Given the description of an element on the screen output the (x, y) to click on. 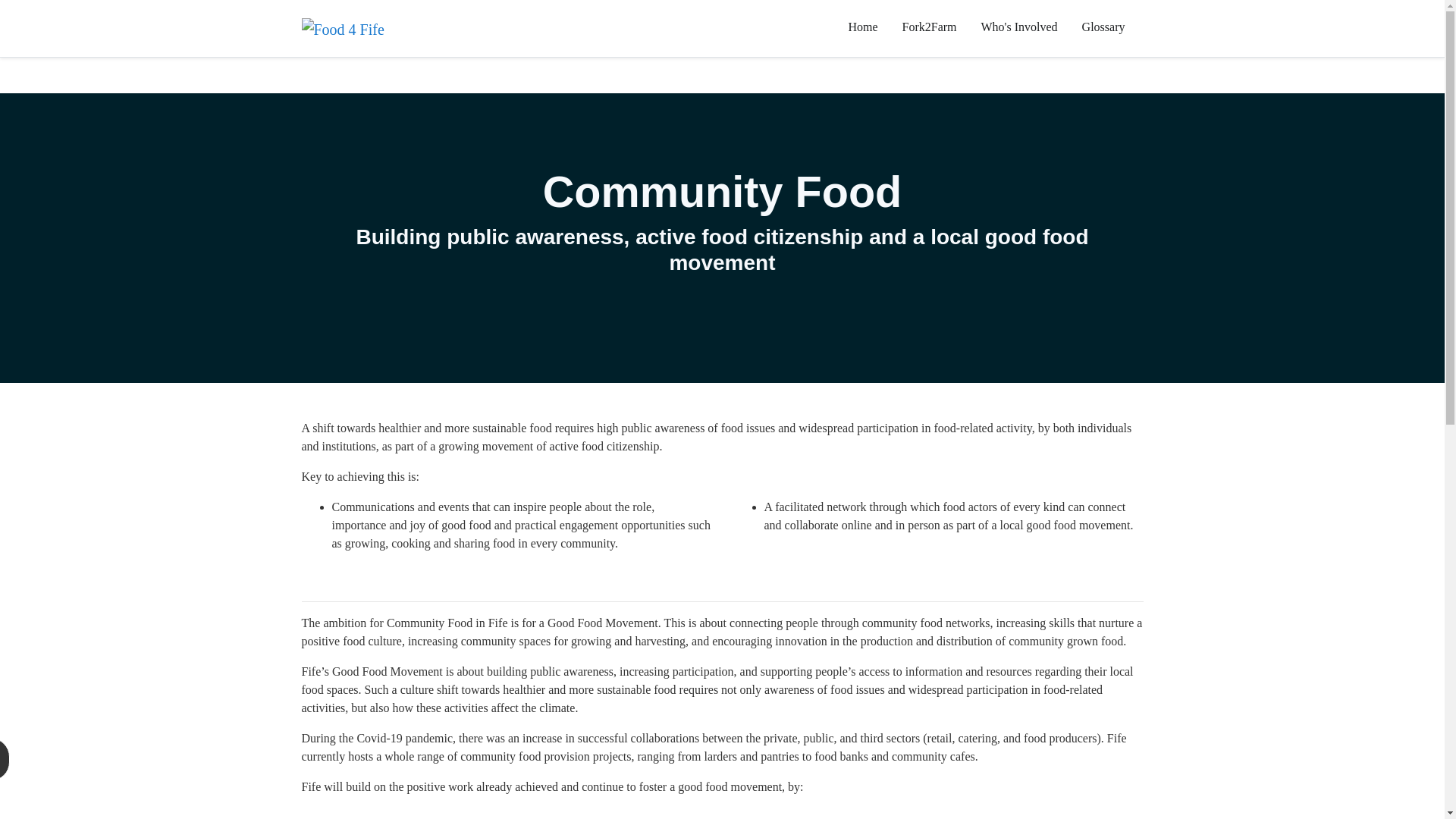
Fork2Farm (929, 27)
Food4Fife (342, 29)
Glossary (1103, 27)
Food for Fife (342, 28)
Who's Involved (1019, 27)
